Given the description of an element on the screen output the (x, y) to click on. 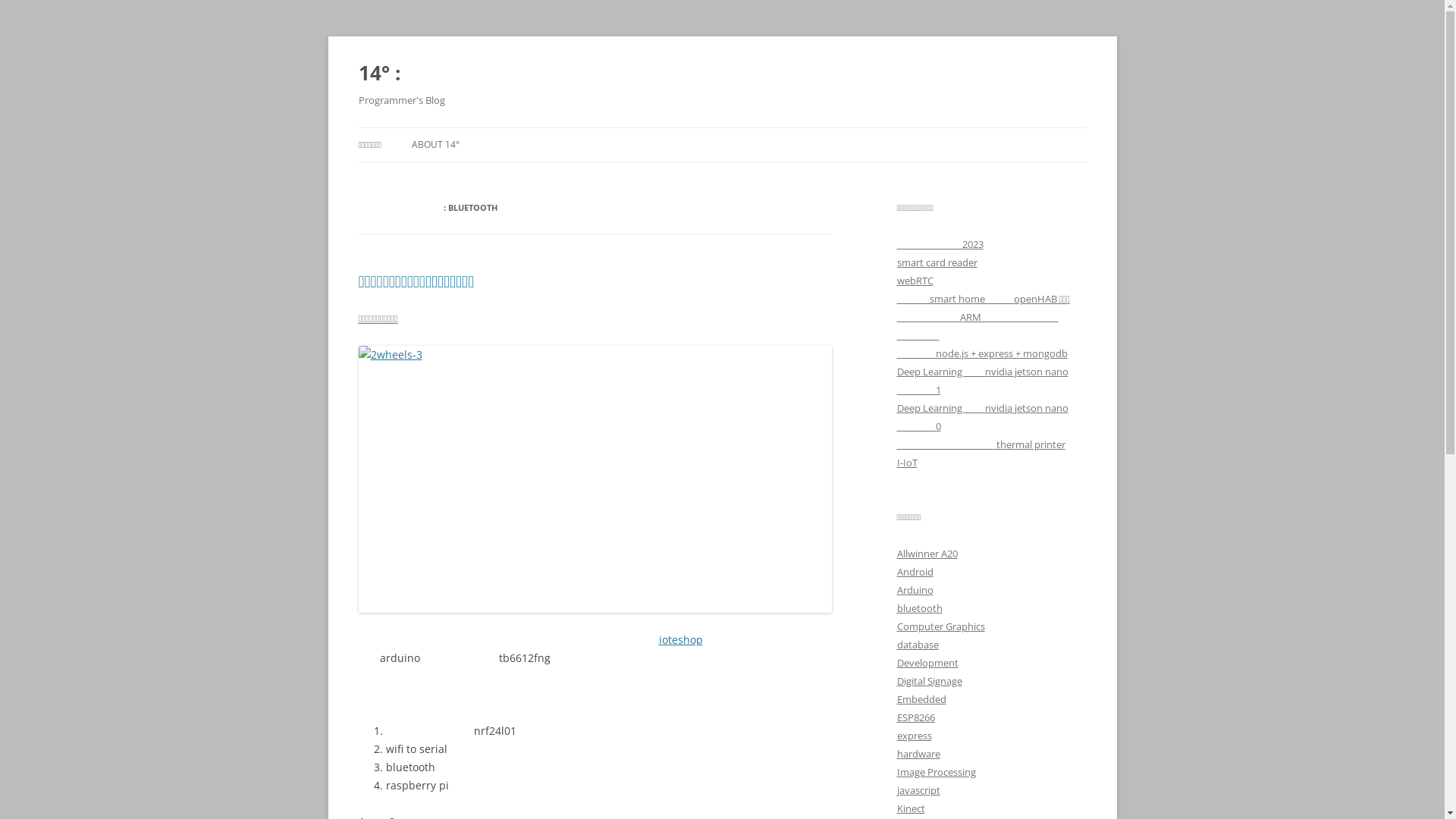
Embedded Element type: text (920, 699)
Image Processing Element type: text (935, 771)
ESP8266 Element type: text (915, 717)
hardware Element type: text (917, 753)
database Element type: text (917, 644)
smart card reader Element type: text (936, 262)
Arduino Element type: text (914, 589)
Android Element type: text (914, 571)
I-IoT Element type: text (906, 462)
Development Element type: text (926, 662)
Kinect Element type: text (910, 808)
webRTC Element type: text (914, 280)
Digital Signage Element type: text (928, 680)
ioteshop Element type: text (680, 639)
bluetooth Element type: text (918, 608)
express Element type: text (913, 735)
javascript Element type: text (917, 790)
Computer Graphics Element type: text (940, 626)
Allwinner A20 Element type: text (926, 553)
